Given the description of an element on the screen output the (x, y) to click on. 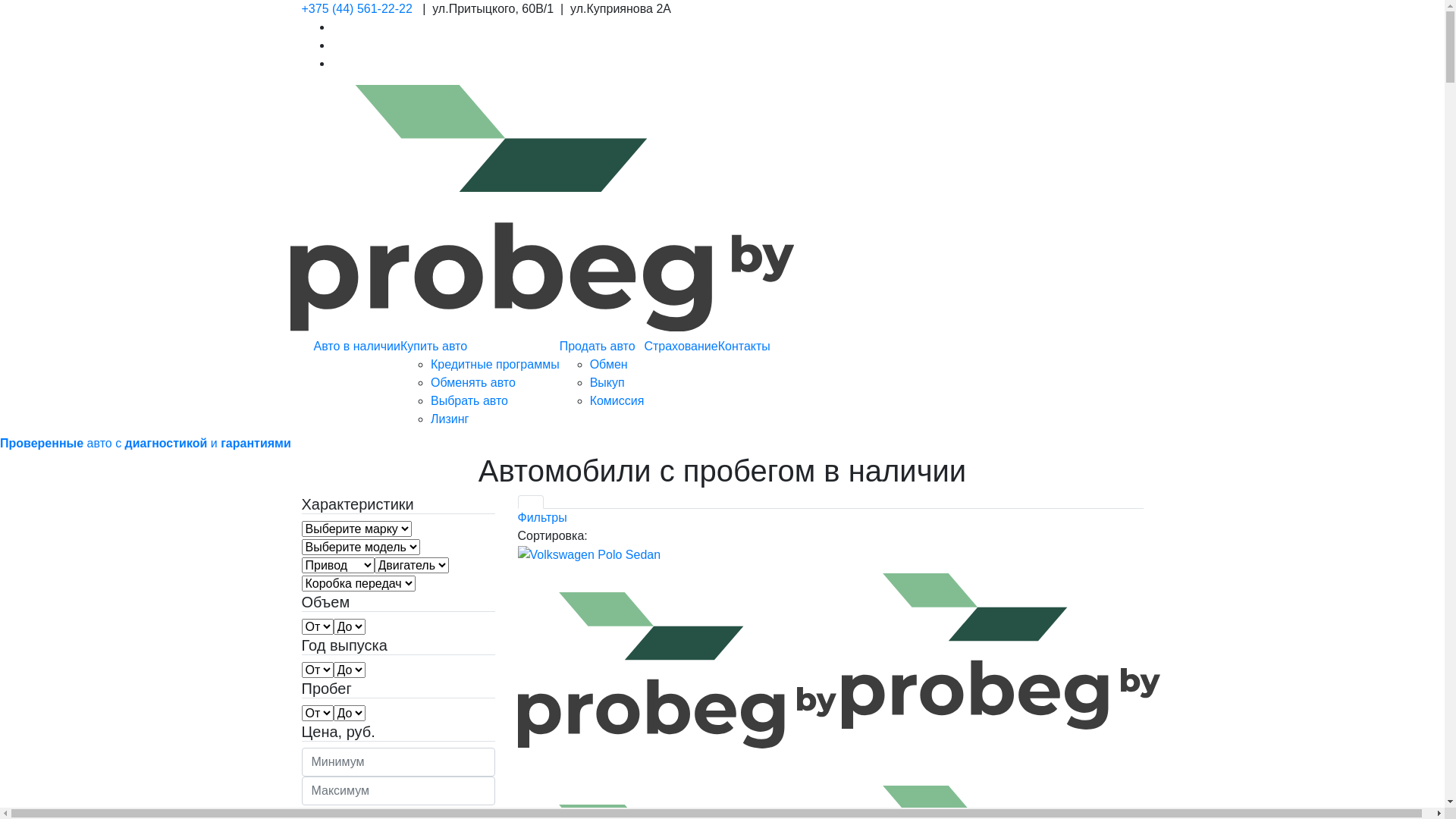
+375 (44) 561-22-22 Element type: text (356, 8)
